Given the description of an element on the screen output the (x, y) to click on. 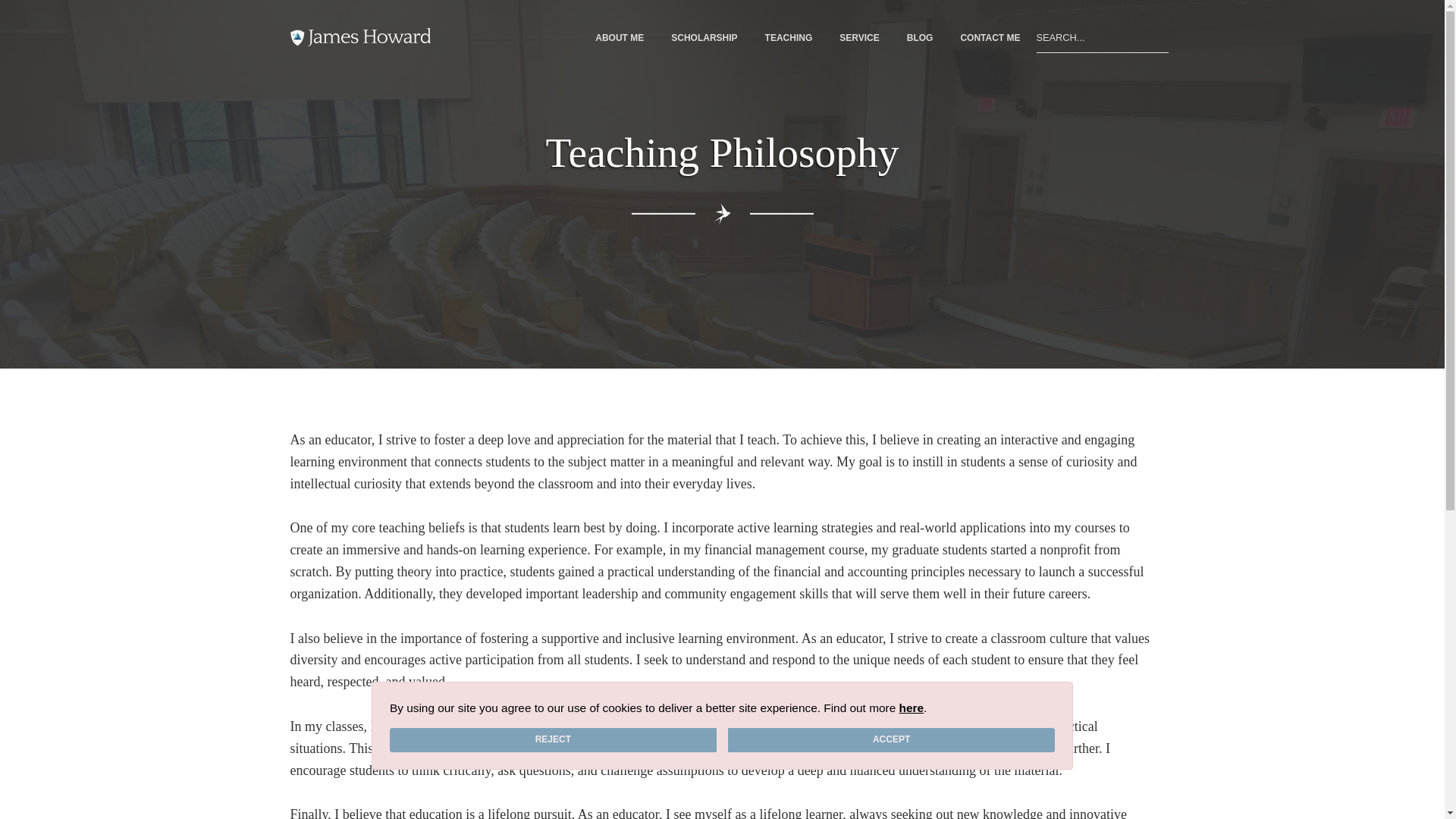
CONTACT ME (989, 37)
SCHOLARSHIP (703, 37)
REJECT (553, 739)
SERVICE (858, 37)
ABOUT ME (619, 37)
BLOG (919, 37)
here (911, 707)
ACCEPT (891, 739)
TEACHING (789, 37)
